Given the description of an element on the screen output the (x, y) to click on. 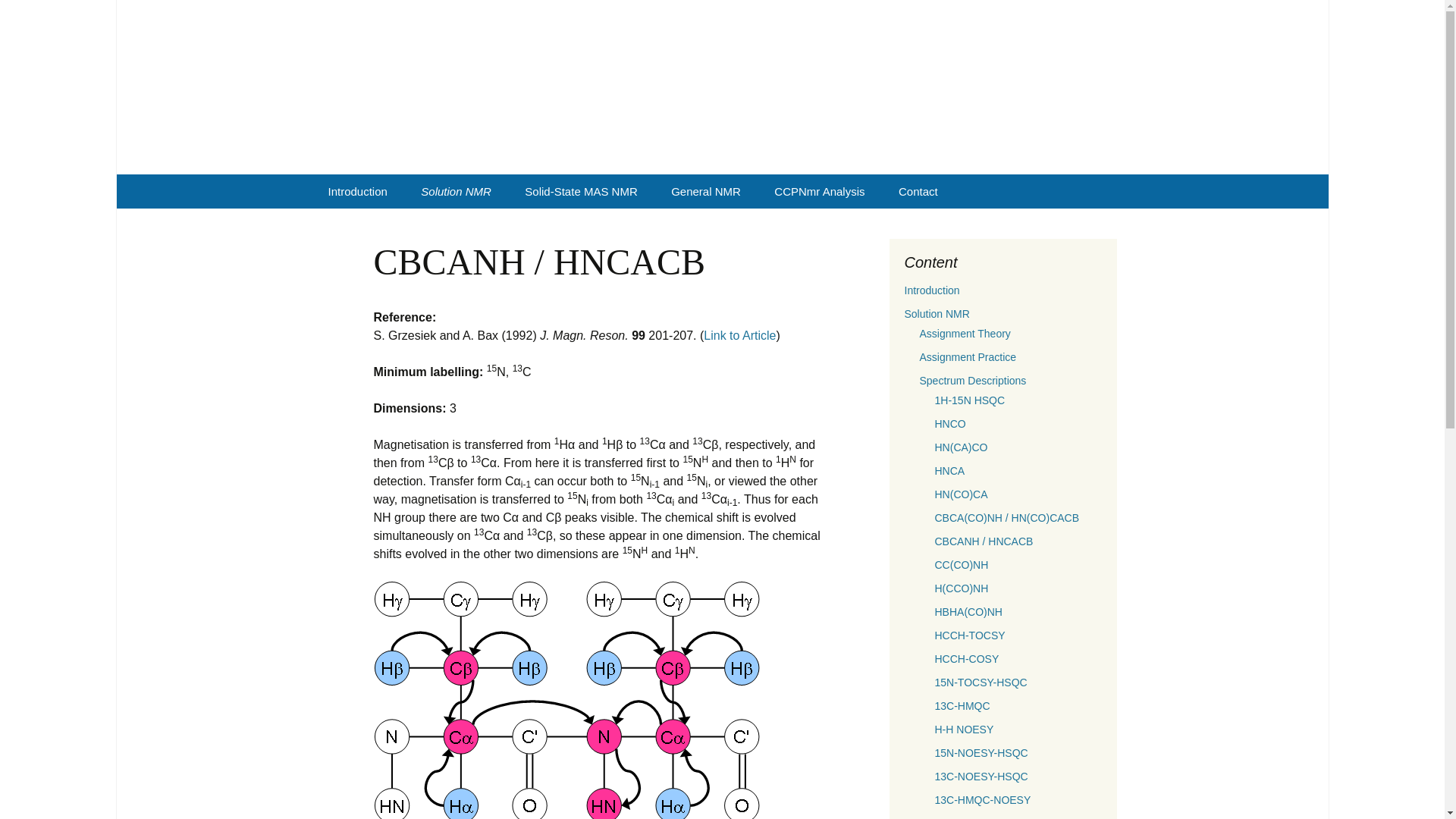
Introduction (357, 191)
Skip to content (456, 191)
